Given the description of an element on the screen output the (x, y) to click on. 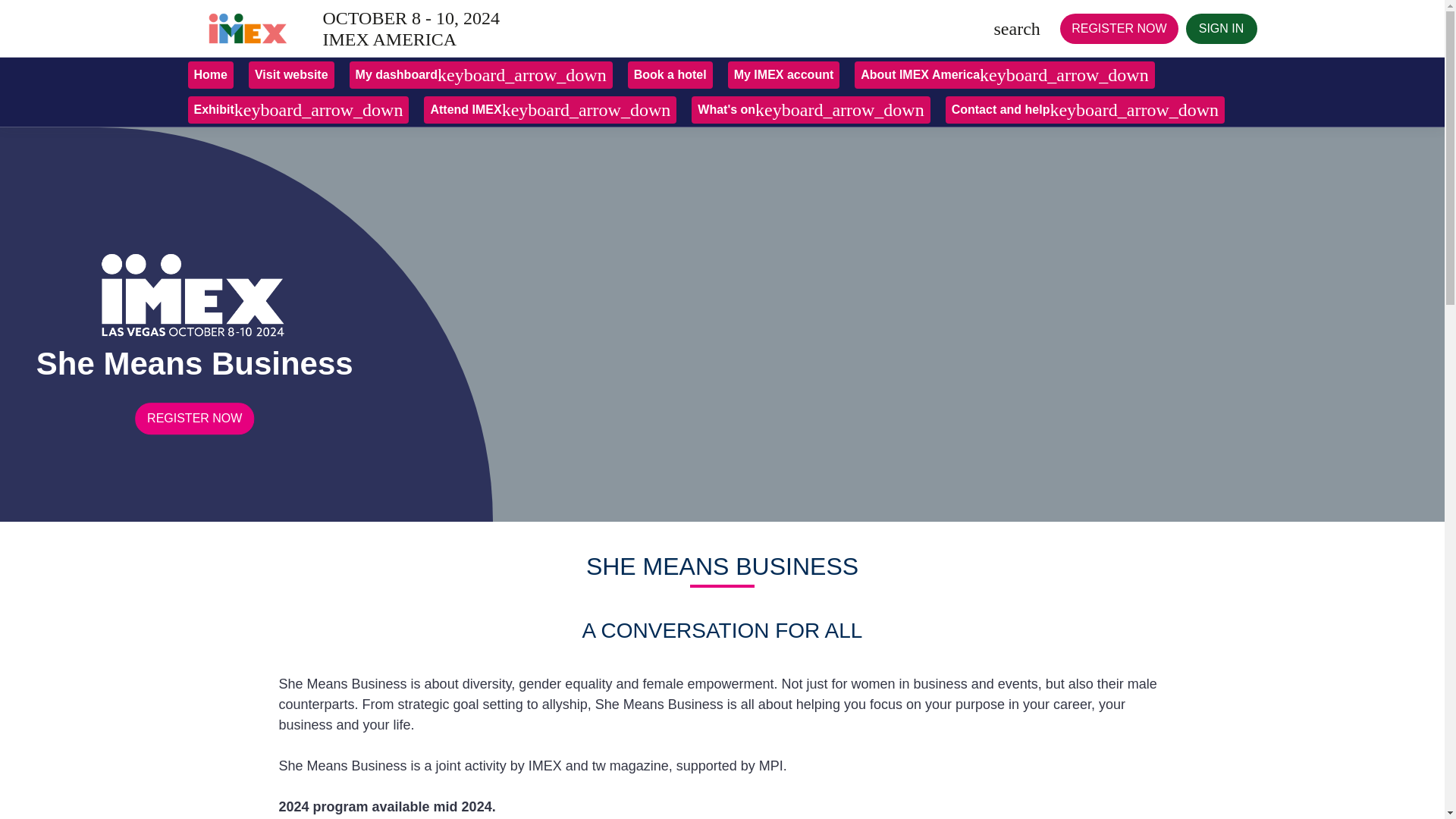
About IMEX America (1004, 74)
Attend IMEX (550, 109)
Home (209, 74)
Book a hotel (670, 74)
REGISTER NOW (1118, 28)
What's on (810, 109)
My dashboard (480, 74)
My IMEX account (784, 74)
Visit website (291, 74)
SIGN IN (1221, 28)
Contact and help (1084, 109)
Exhibit (298, 109)
